Given the description of an element on the screen output the (x, y) to click on. 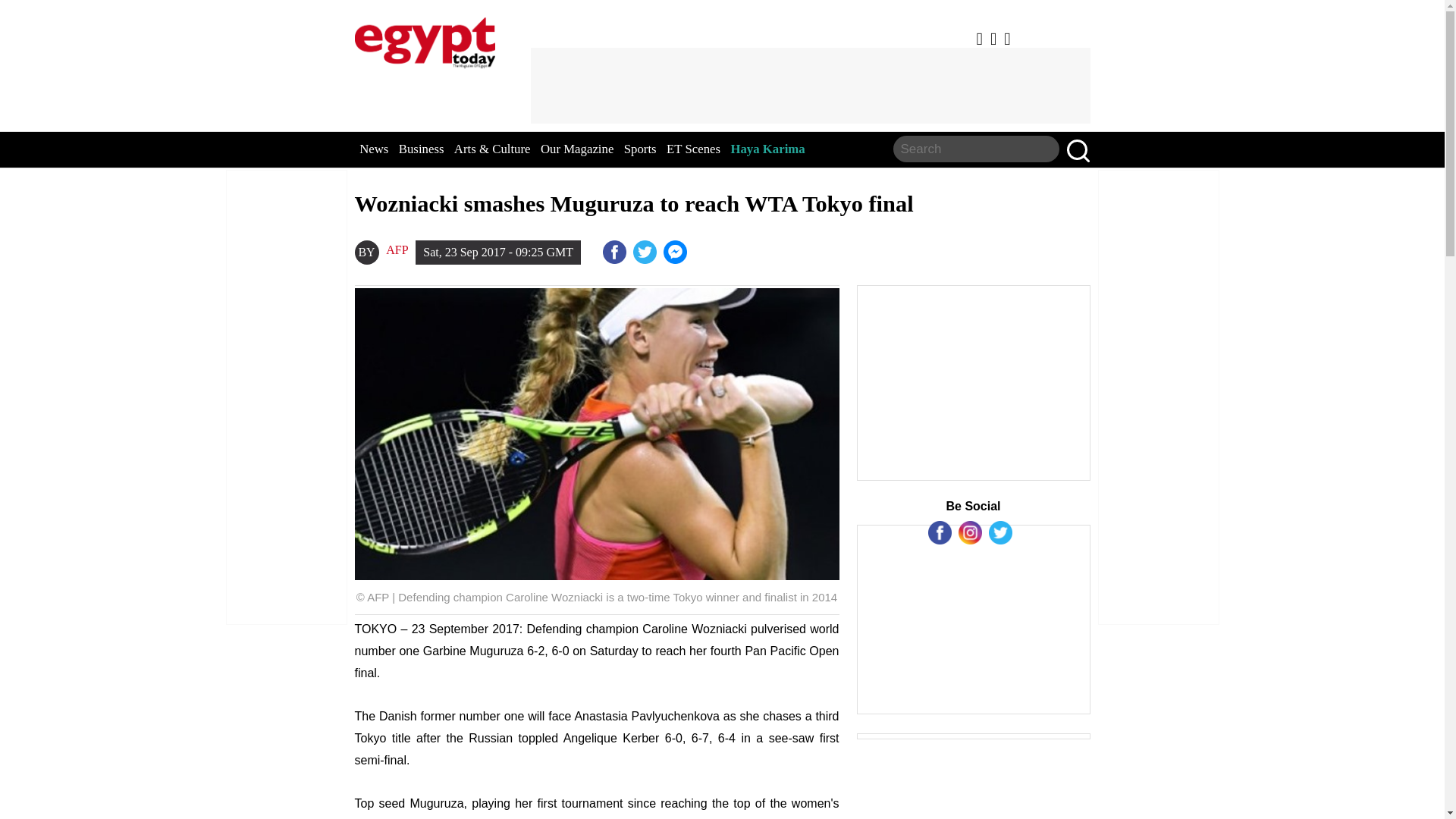
AFP (396, 250)
Sisi heads to Guinea first destination in overseas tour (676, 251)
Haya Karima (767, 149)
ET Scenes (693, 149)
EgyptToday (425, 39)
Sports (640, 149)
Business (421, 149)
Our Magazine (576, 149)
